Given the description of an element on the screen output the (x, y) to click on. 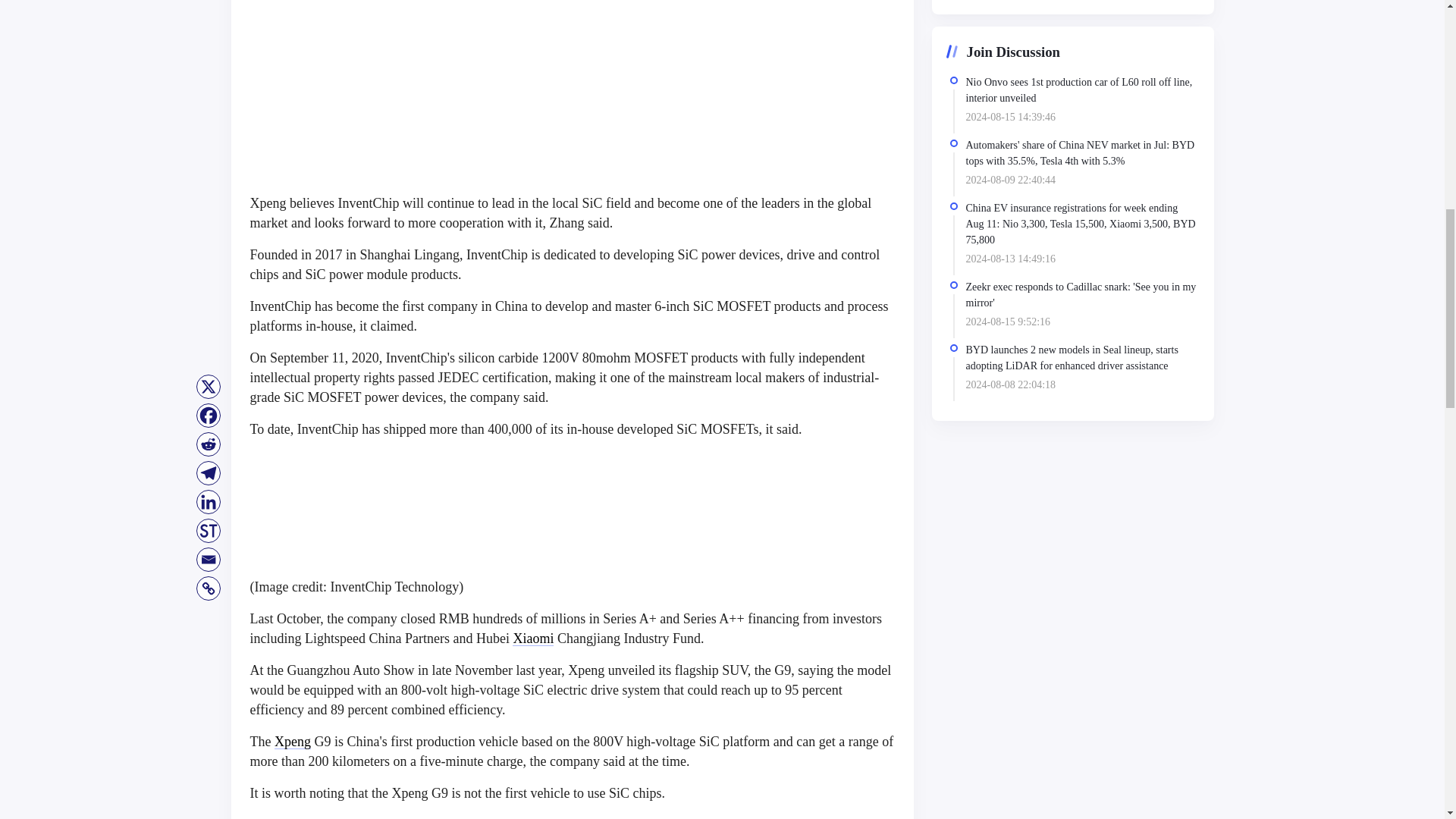
Tesla (717, 818)
Xpeng (293, 741)
Xiaomi (532, 638)
BYD (772, 818)
